Given the description of an element on the screen output the (x, y) to click on. 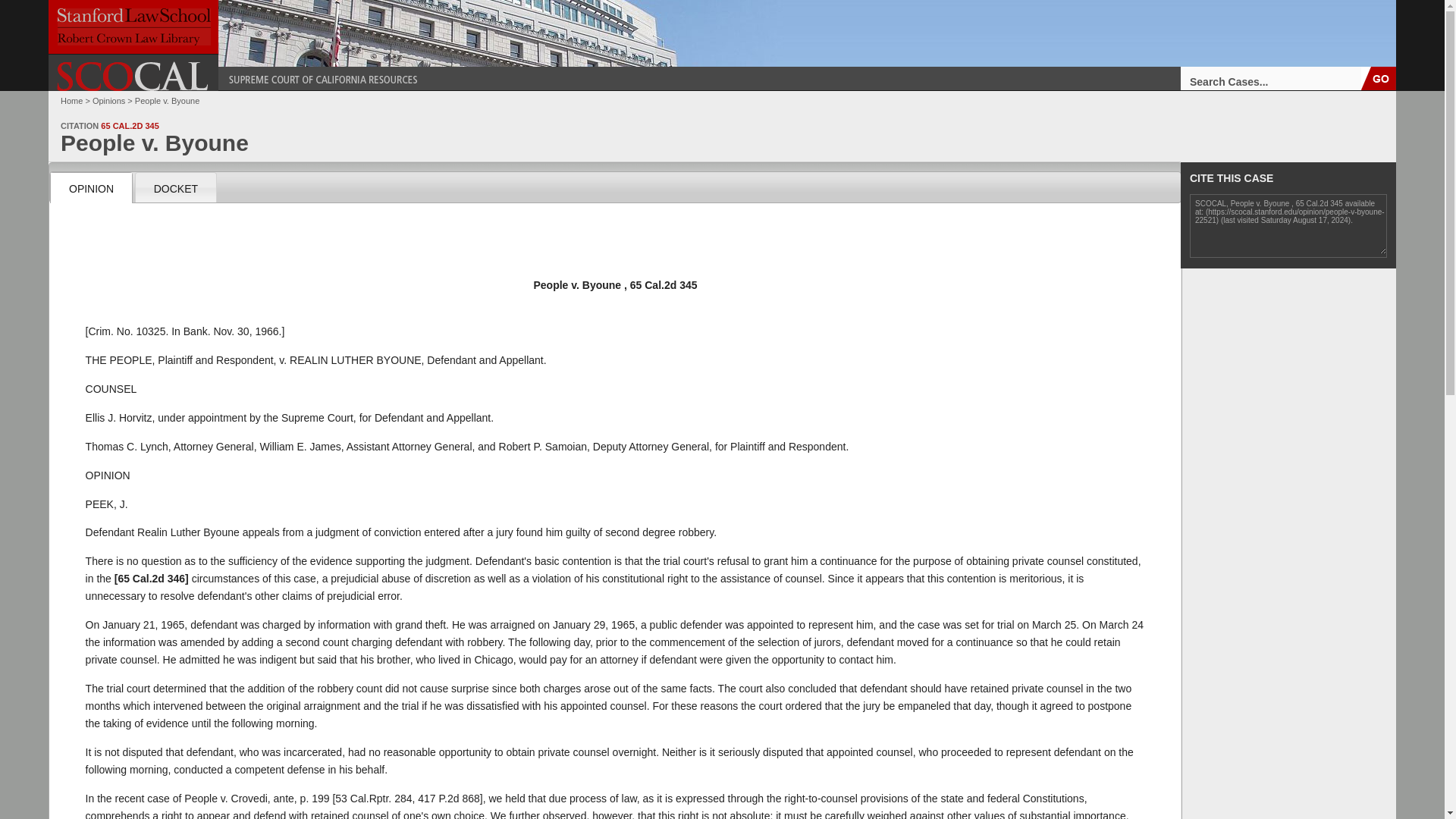
Opinions (109, 100)
DOCKET (175, 187)
Search (1378, 78)
Stanford Law School - Robert Crown Law Library (133, 27)
Search (1378, 78)
Home (71, 100)
OPINION (91, 187)
Search Cases... (1270, 78)
Supreme Court of California (133, 76)
Search Cases... (1270, 78)
